Given the description of an element on the screen output the (x, y) to click on. 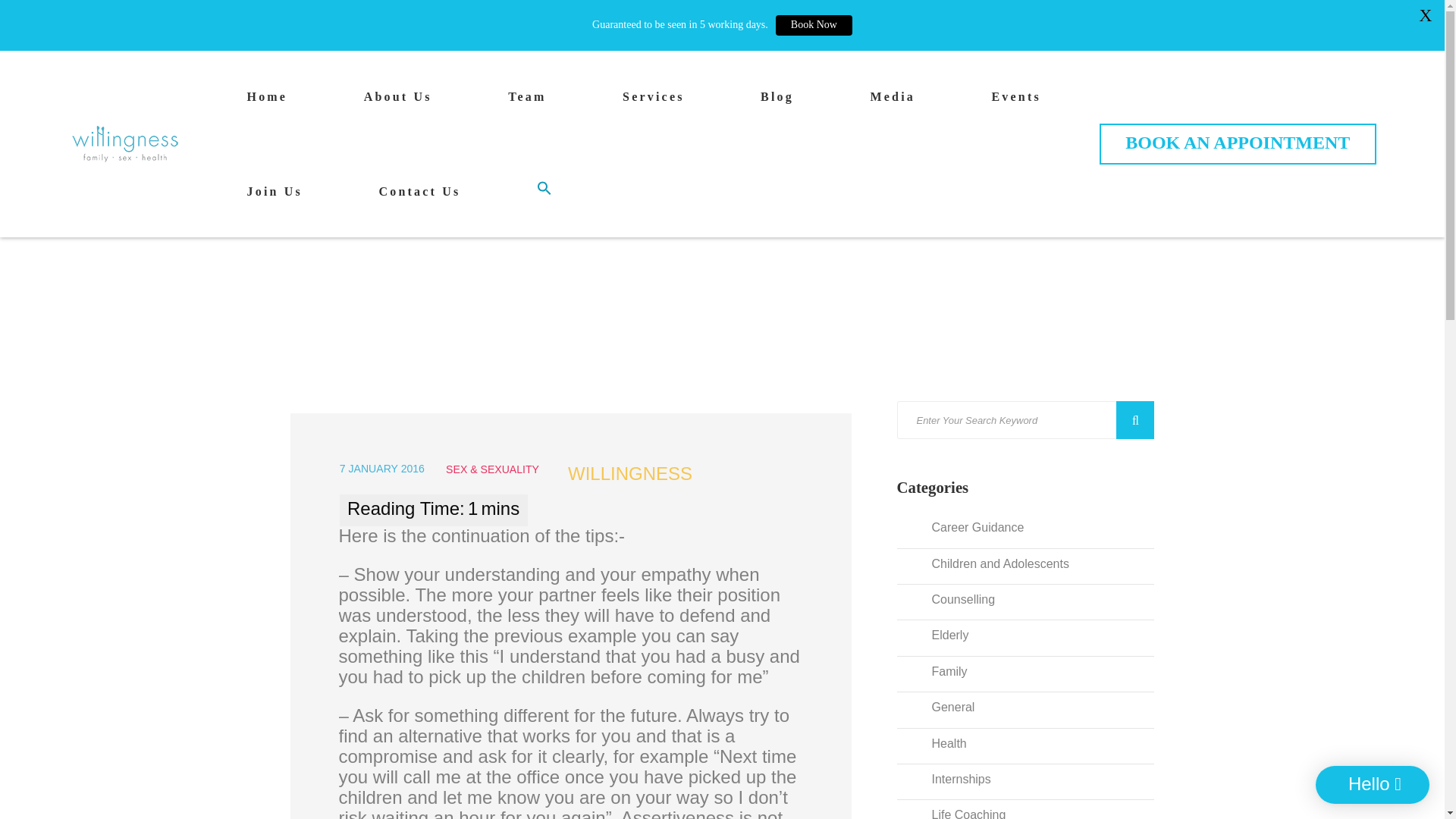
Internships (954, 776)
About Us (397, 101)
Services (653, 101)
Counselling (956, 596)
Search (1135, 419)
Children and Adolescents (993, 560)
Team (526, 101)
Health (942, 740)
Events (1016, 101)
Join Us (274, 196)
Media (892, 101)
BOOK AN APPOINTMENT (1237, 143)
Elderly (943, 631)
Willingness (125, 143)
Blog (776, 101)
